Given the description of an element on the screen output the (x, y) to click on. 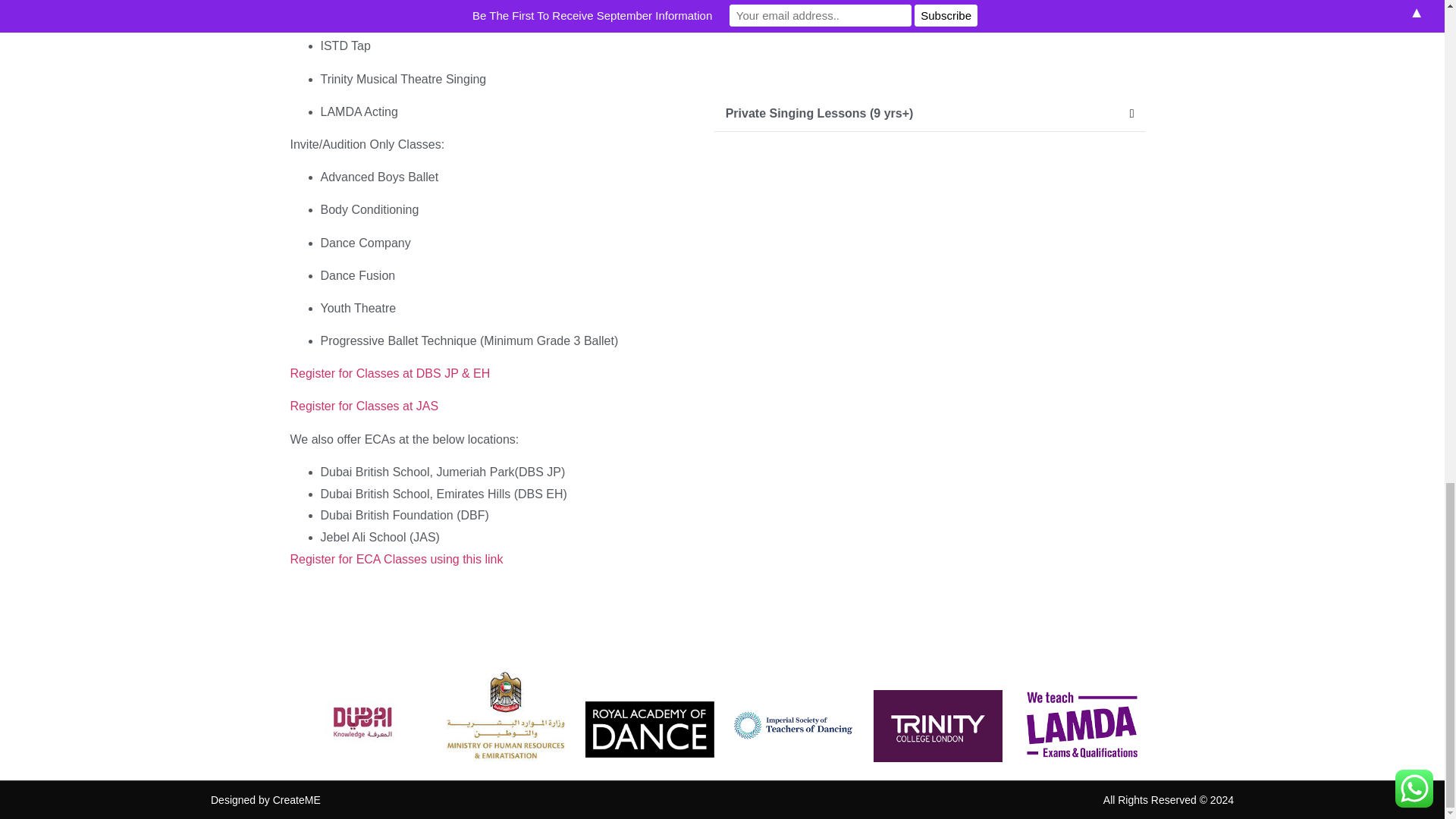
Acting Classes (768, 4)
CreateME (296, 799)
Register for Classes at JAS (363, 405)
Register for ECA Classes using this link (395, 558)
